Given the description of an element on the screen output the (x, y) to click on. 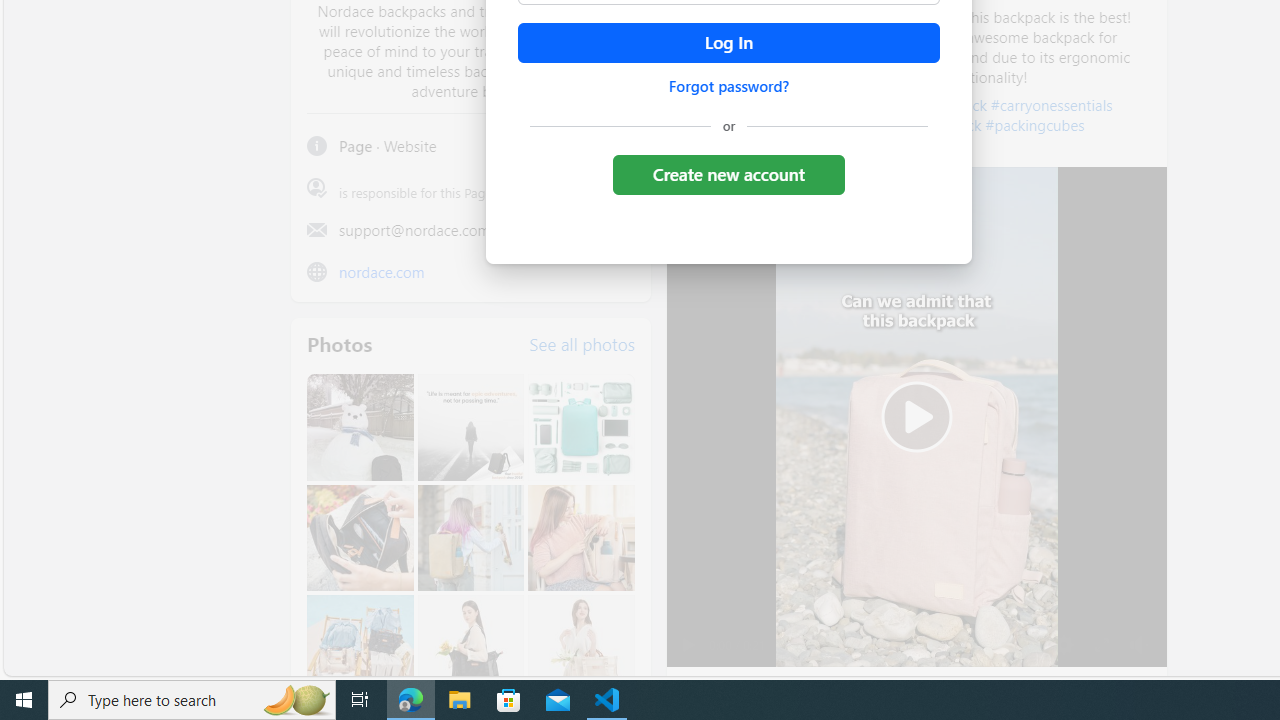
Forgot password? (728, 85)
Create new account (728, 174)
Accessible login button (728, 43)
